Given the description of an element on the screen output the (x, y) to click on. 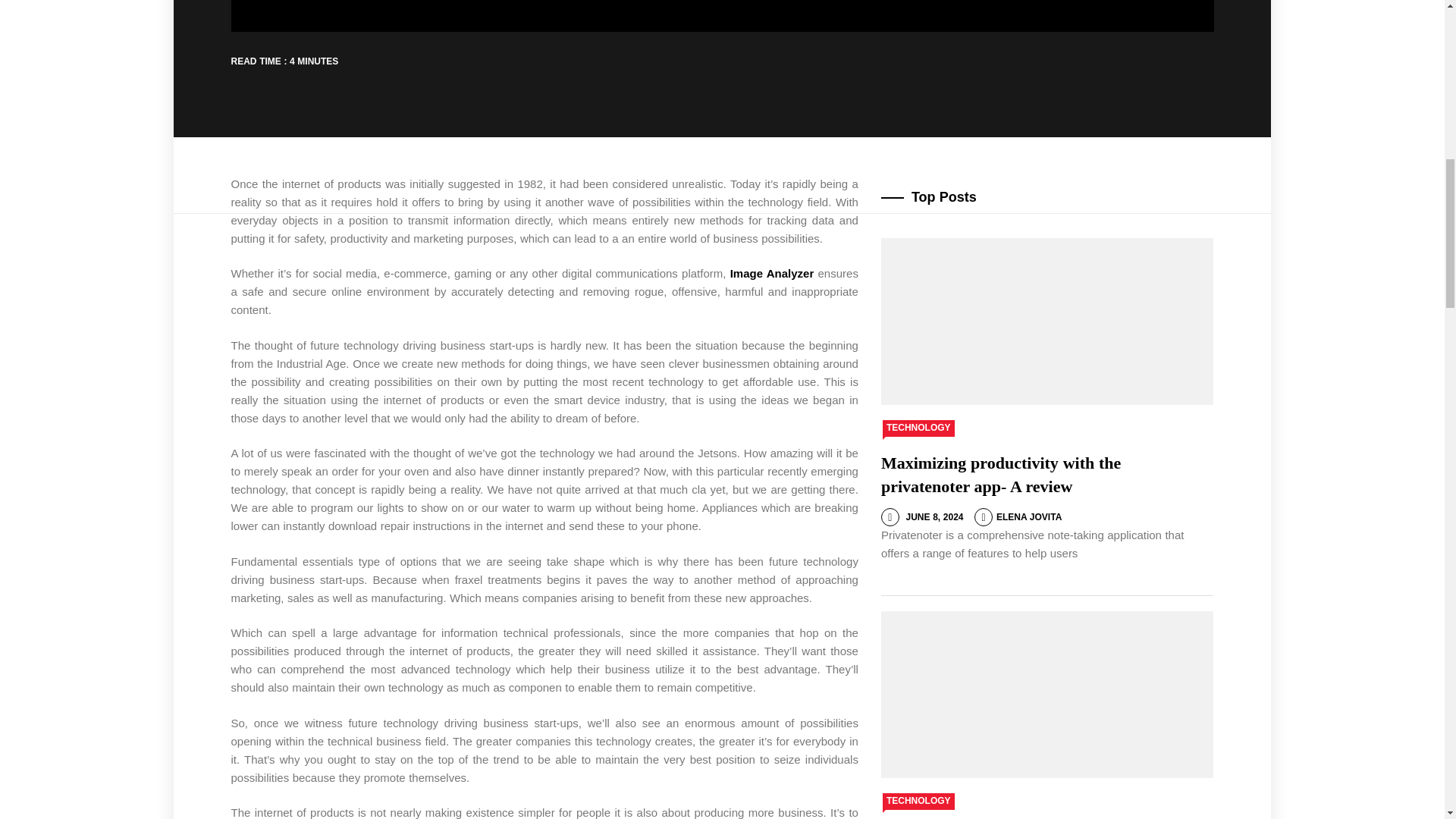
Maximizing productivity with the privatenoter app- A review (1000, 474)
Image Analyzer (771, 273)
TECHNOLOGY (918, 428)
